Given the description of an element on the screen output the (x, y) to click on. 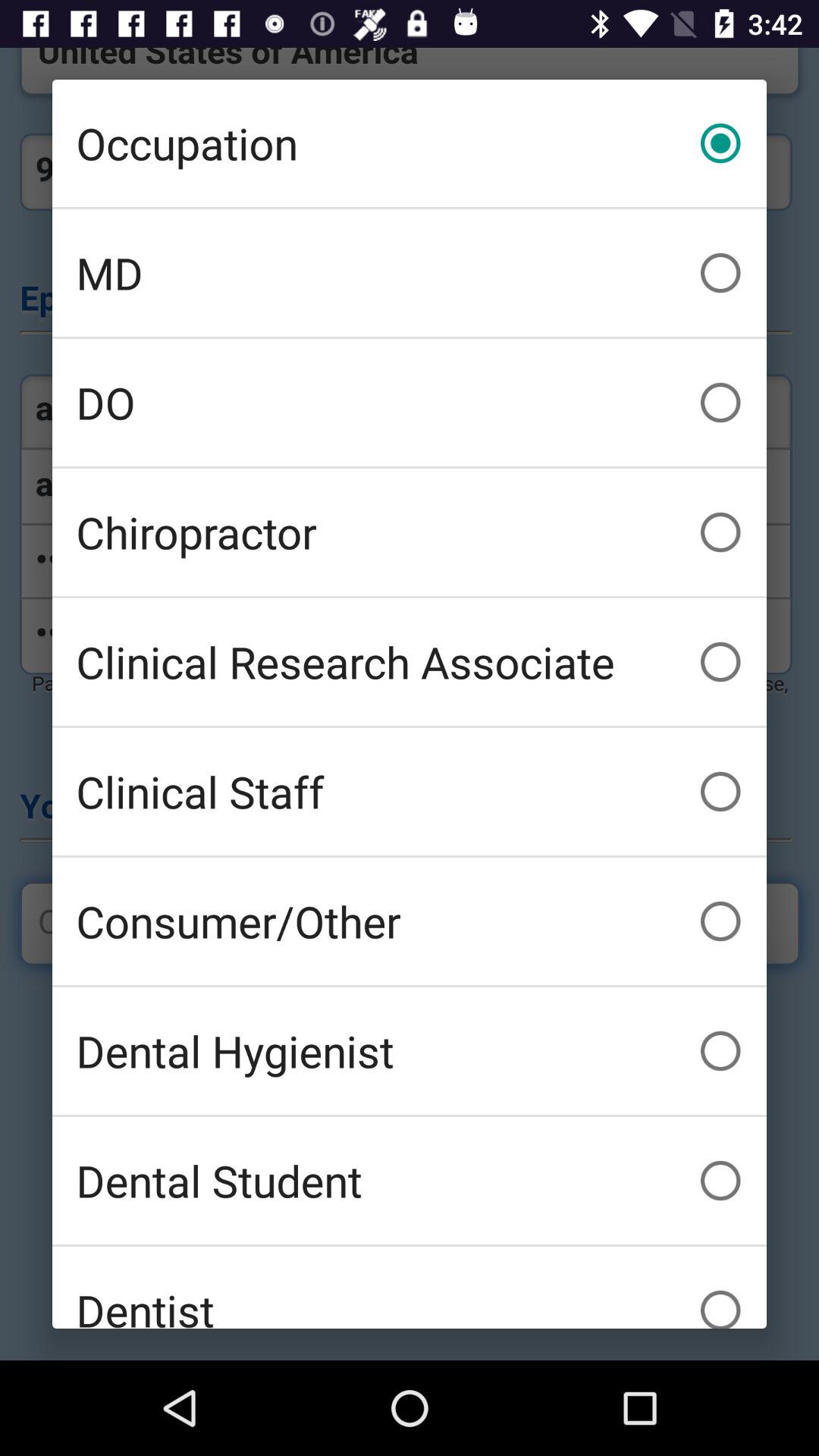
click the md (409, 272)
